Given the description of an element on the screen output the (x, y) to click on. 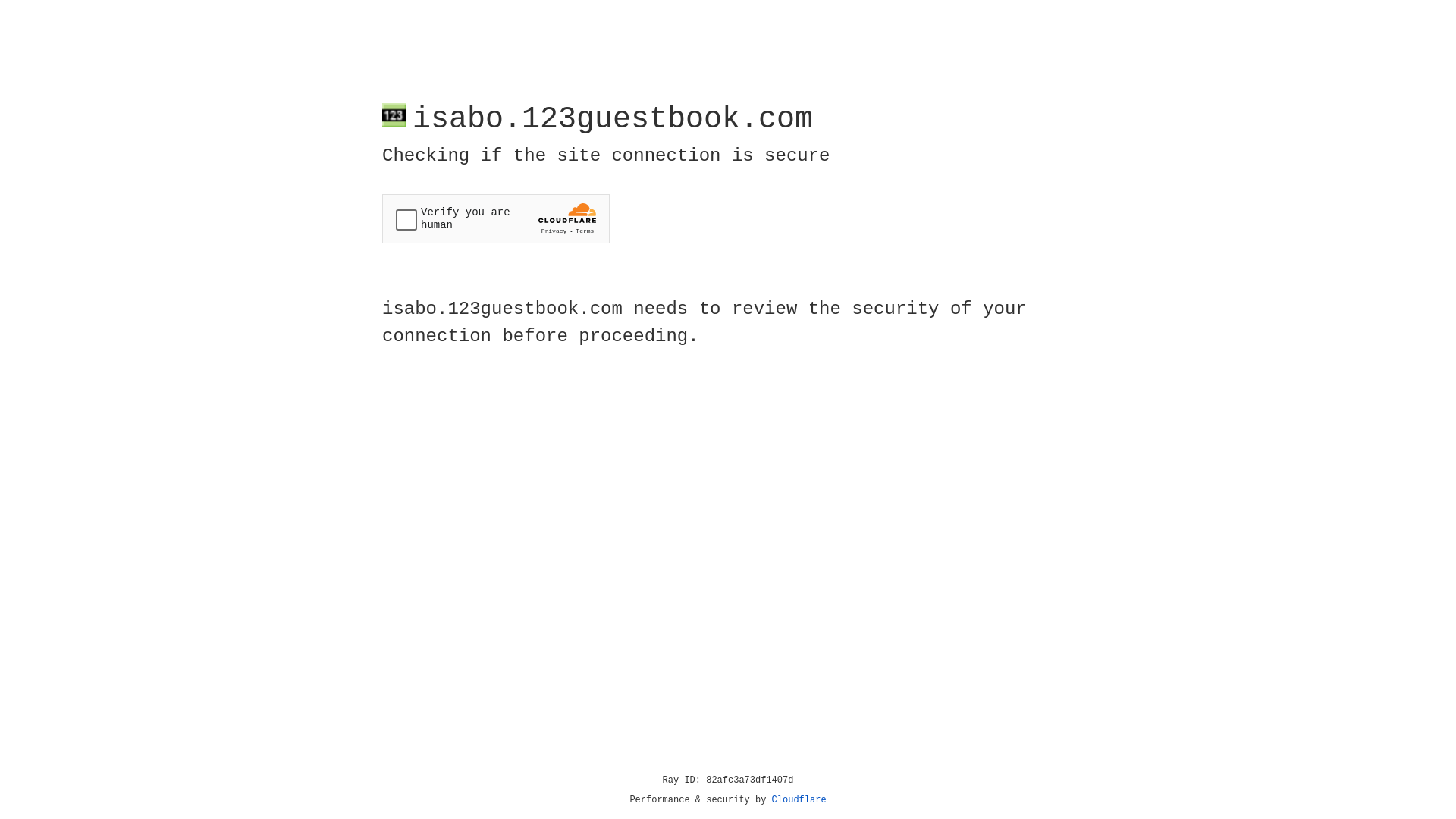
Cloudflare Element type: text (798, 799)
Widget containing a Cloudflare security challenge Element type: hover (495, 218)
